Given the description of an element on the screen output the (x, y) to click on. 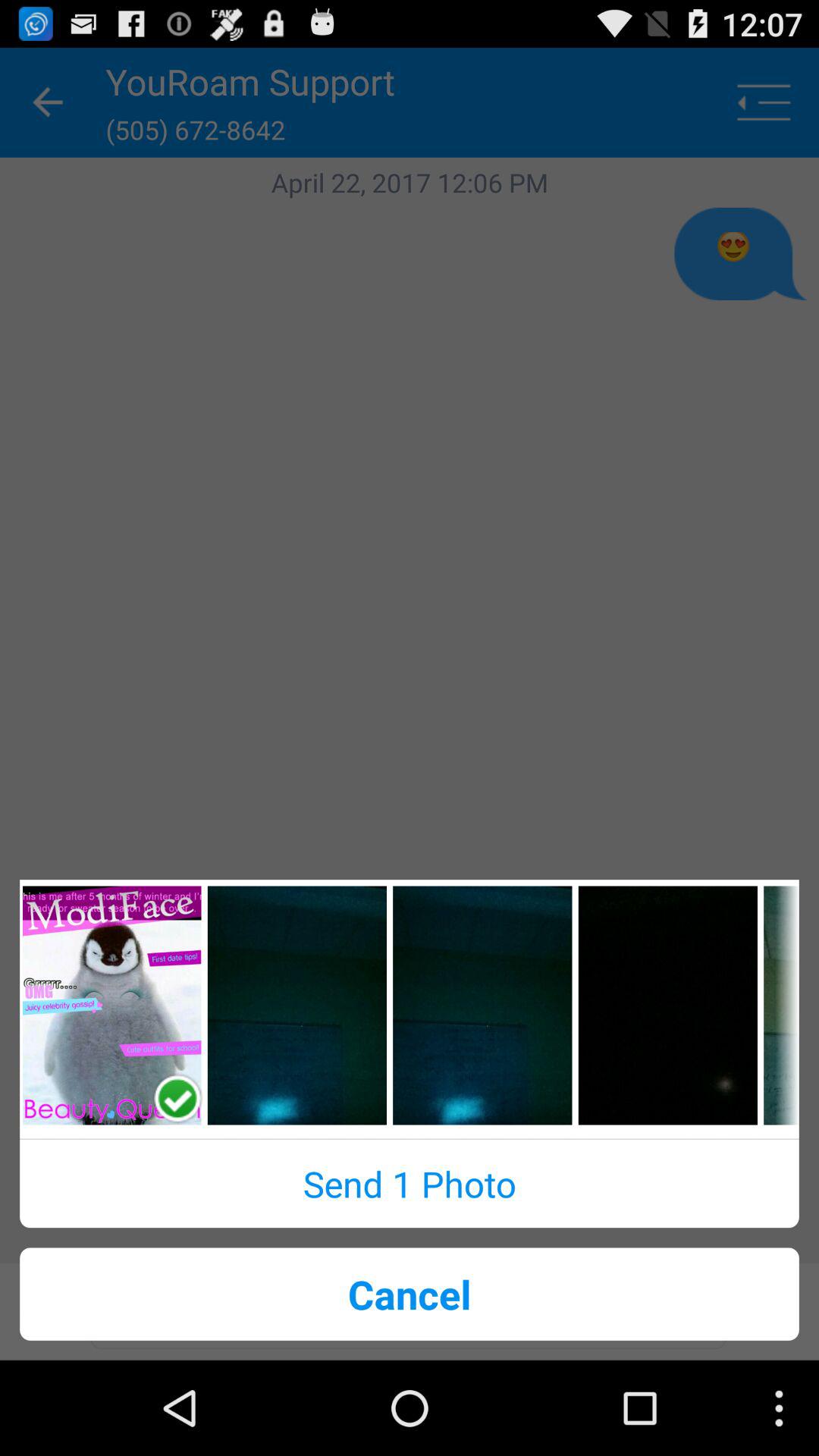
select a picture to be send (296, 1005)
